Given the description of an element on the screen output the (x, y) to click on. 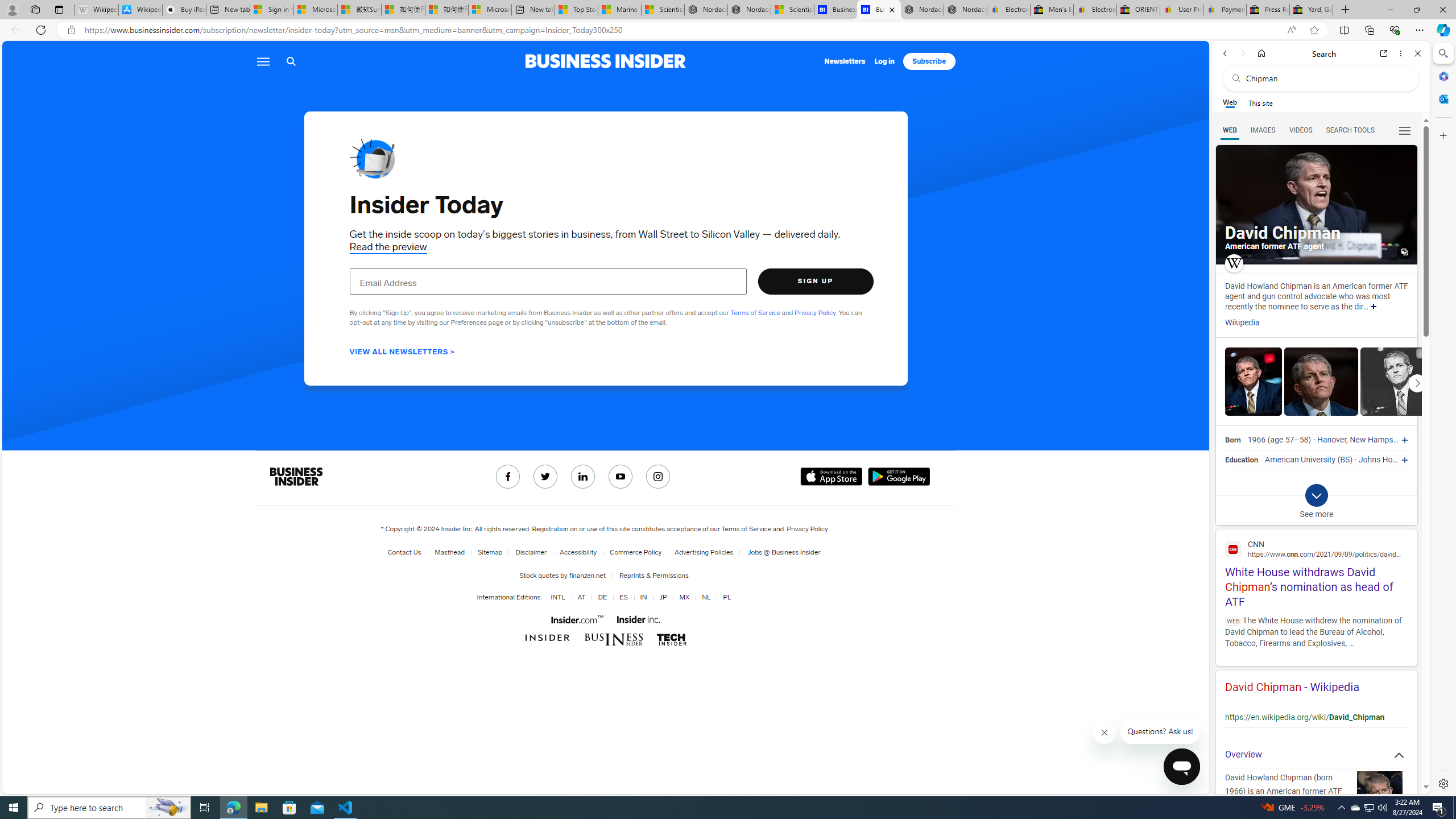
PL (726, 597)
VIEW ALL NEWSLETTERS > (401, 351)
AT (579, 597)
International Editions: (509, 597)
ES (622, 597)
American University (1300, 460)
ES (621, 597)
Connect with us on LinkedIn (582, 476)
